Given the description of an element on the screen output the (x, y) to click on. 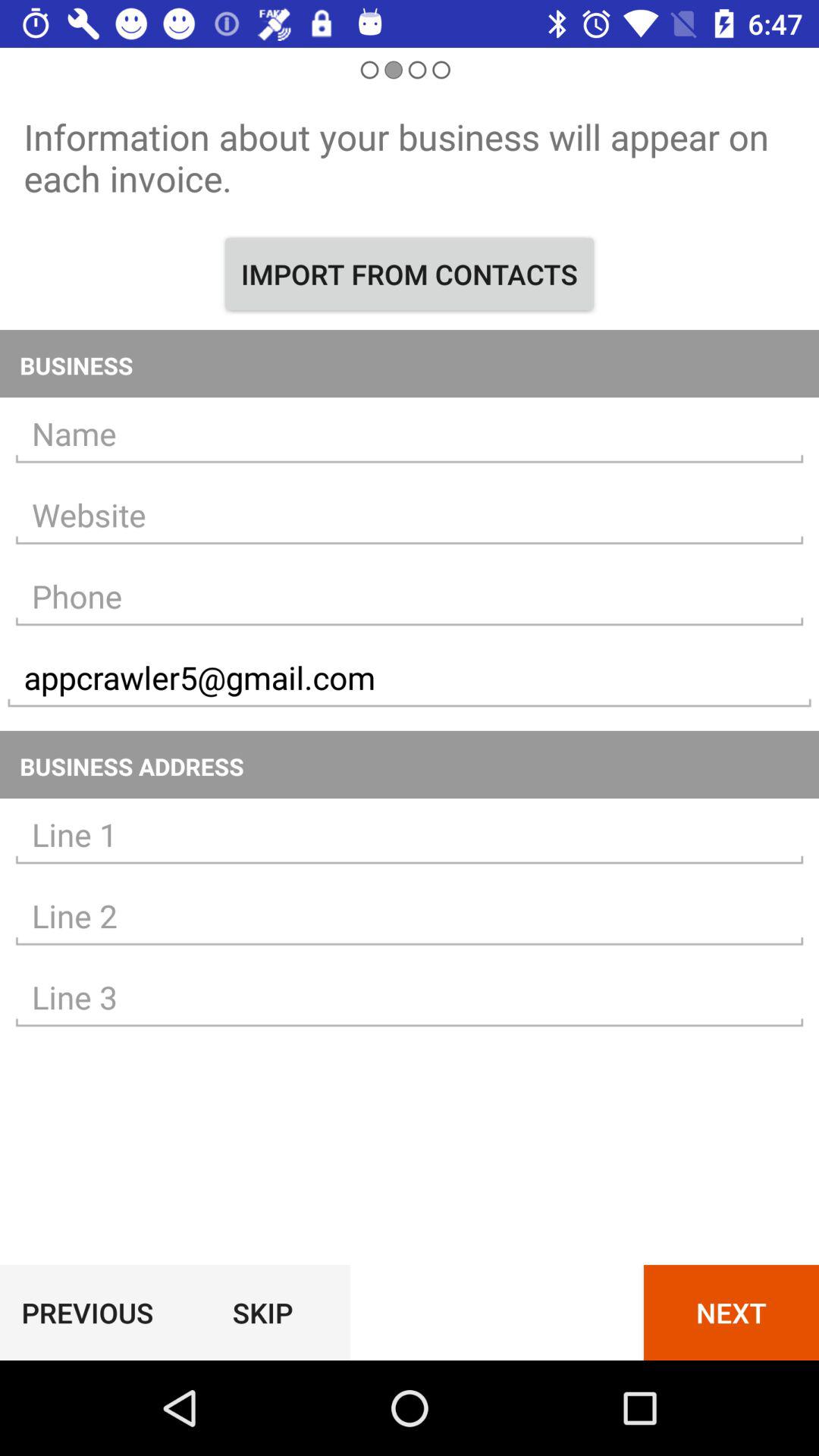
choose the icon to the right of the previous icon (262, 1312)
